Given the description of an element on the screen output the (x, y) to click on. 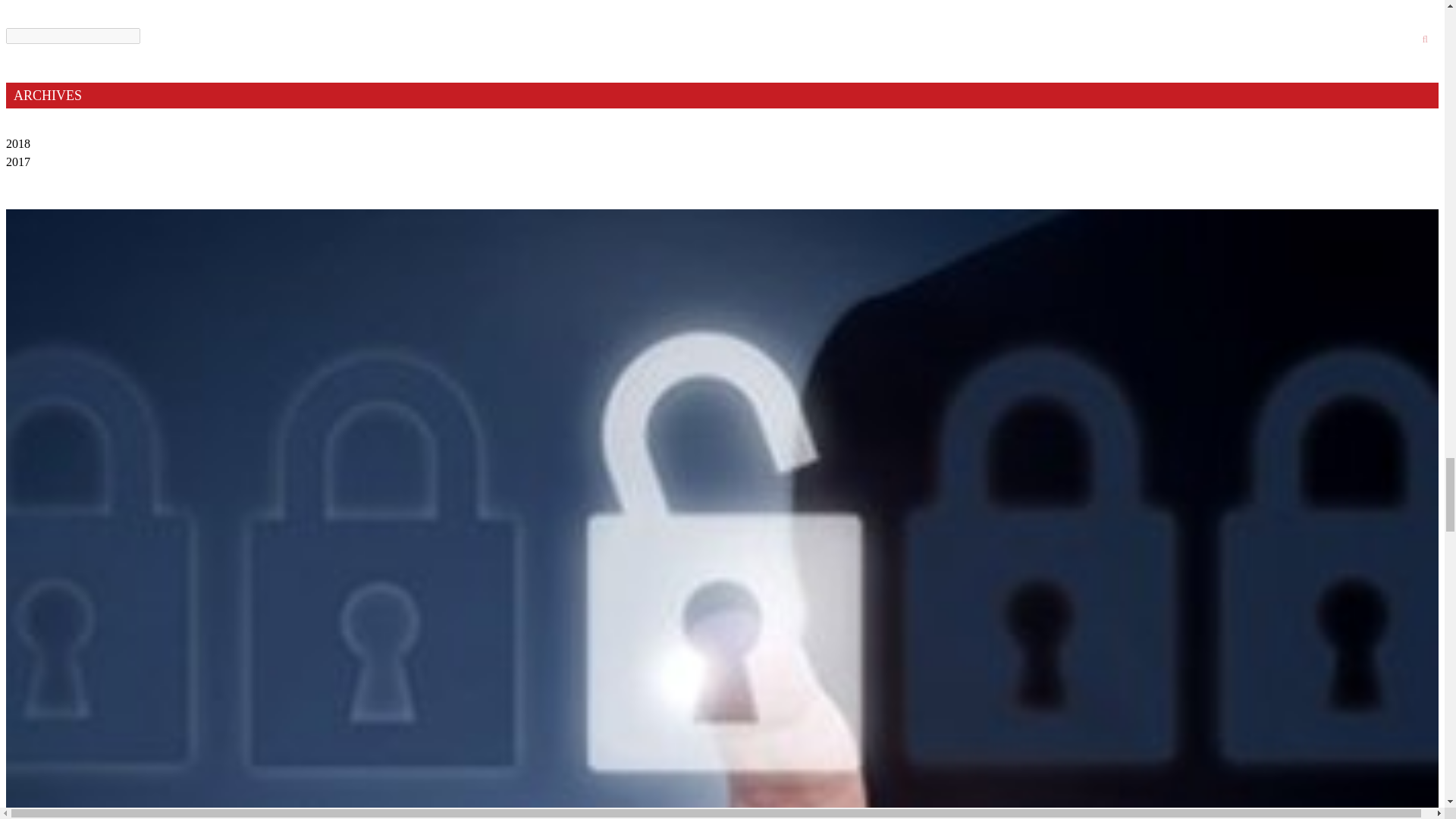
Expand this branch (17, 142)
Expand this branch (17, 160)
